Given the description of an element on the screen output the (x, y) to click on. 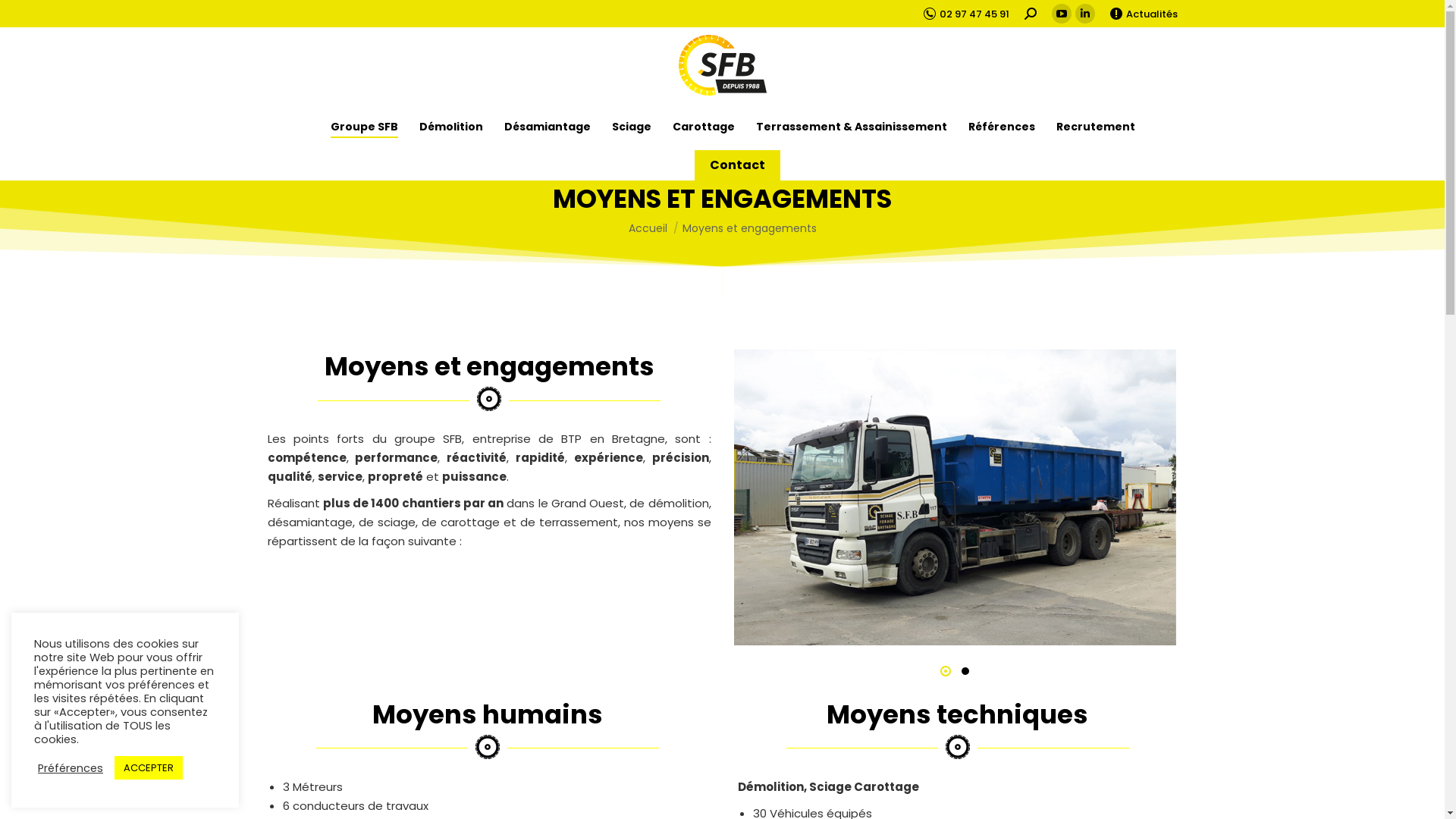
Sciage Element type: text (631, 126)
SFB-poids-lourd Element type: hover (954, 497)
ACCEPTER Element type: text (148, 767)
LinkedIn page opens in new window Element type: text (1085, 13)
Aller ! Element type: text (31, 16)
Groupe SFB Element type: text (364, 126)
YouTube page opens in new window Element type: text (1060, 13)
Accueil Element type: text (646, 227)
Carottage Element type: text (703, 126)
Recrutement Element type: text (1095, 126)
Terrassement & Assainissement Element type: text (851, 126)
Contact Element type: text (737, 165)
